Given the description of an element on the screen output the (x, y) to click on. 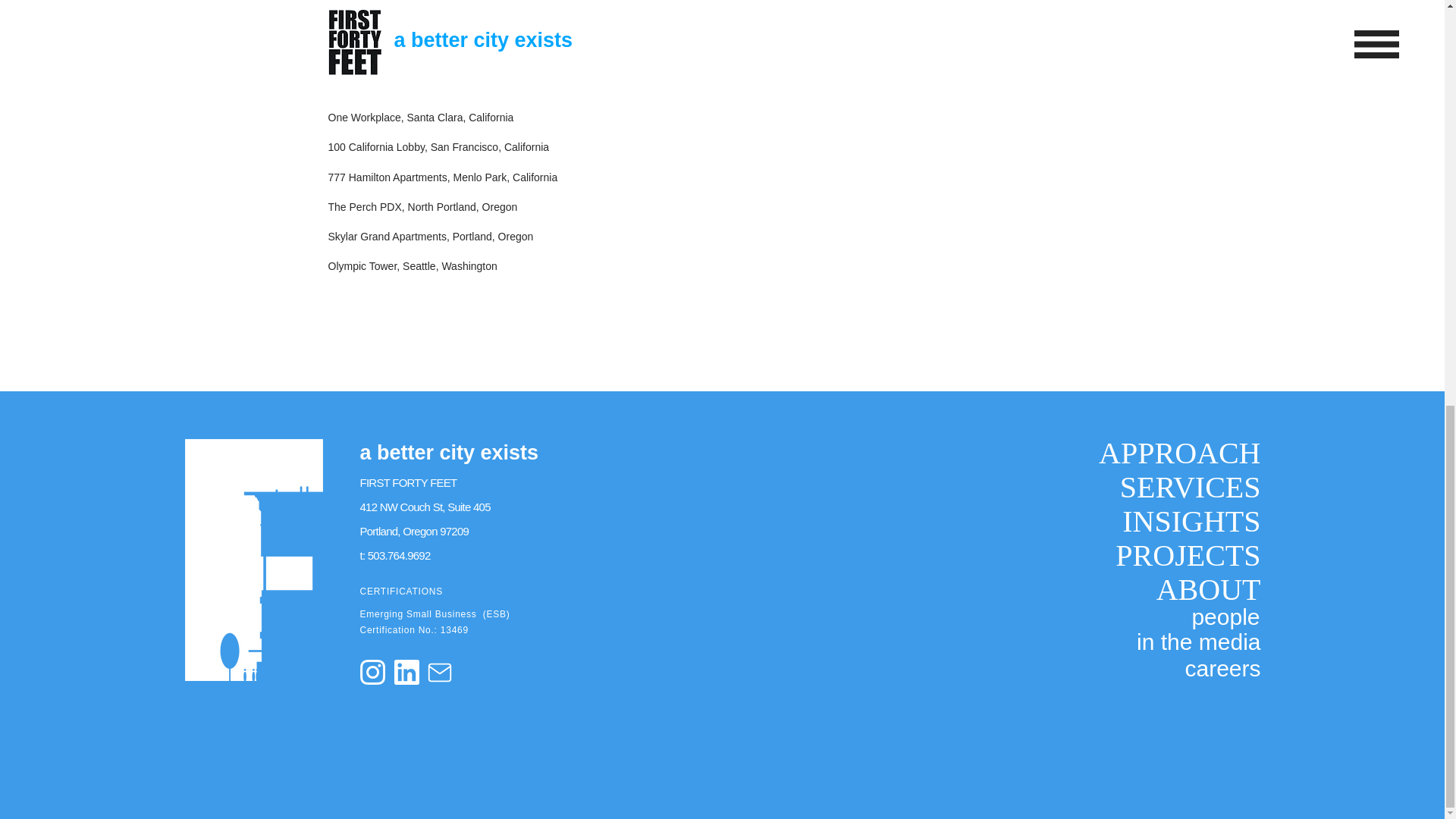
PROJECTS (1167, 555)
in the media (1188, 641)
t: 503.764.9692 (394, 555)
careers (1199, 668)
people (1218, 616)
SERVICES (1167, 487)
INSIGHTS (1167, 520)
APPROACH (1167, 452)
ABOUT (1167, 589)
